Given the description of an element on the screen output the (x, y) to click on. 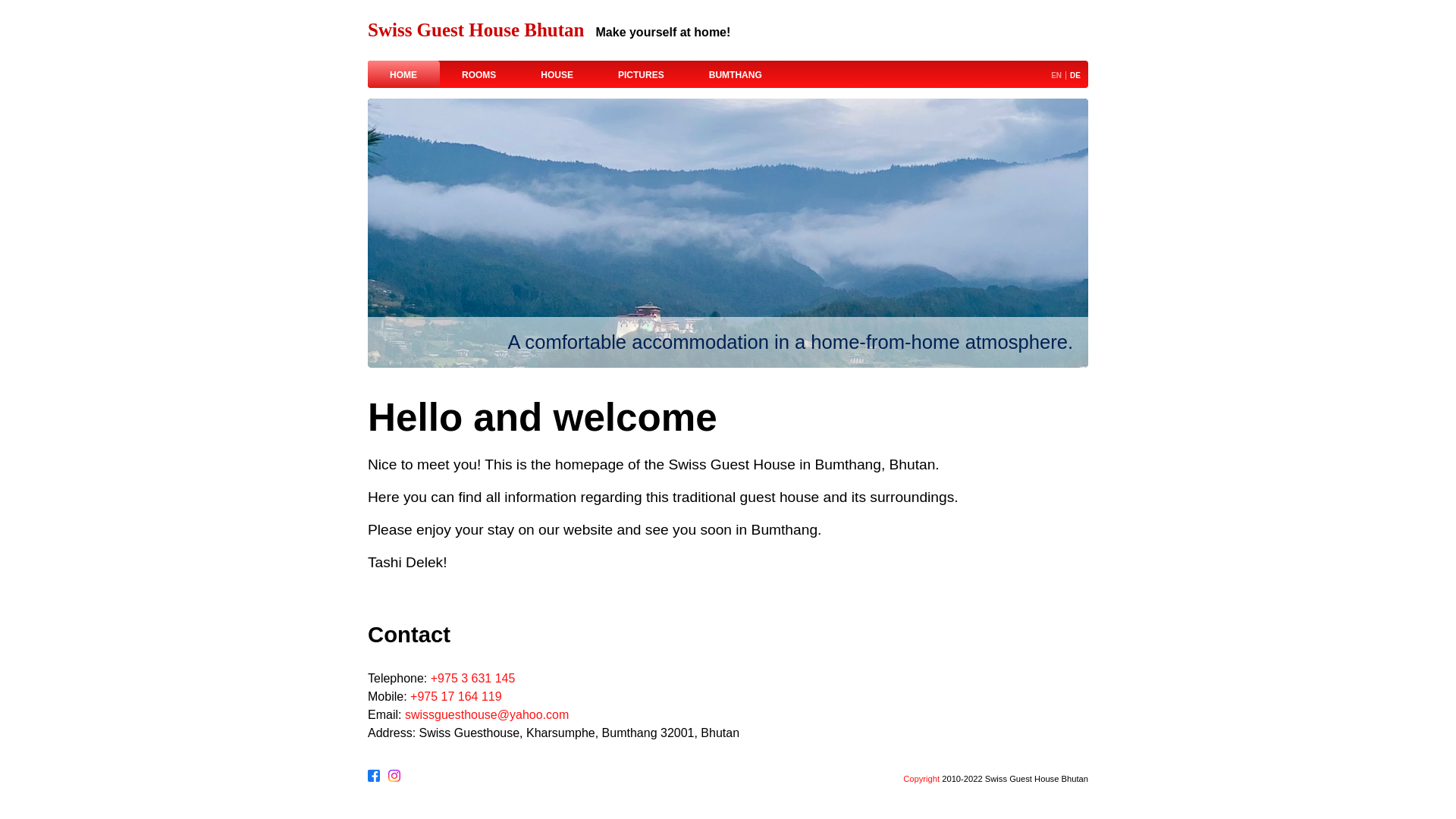
+975 3 631 145 Element type: text (472, 677)
Swiss Guest House Bhutan Element type: text (481, 29)
+975 17 164 119 Element type: text (456, 696)
Copyright Element type: text (921, 778)
BUMTHANG Element type: text (735, 72)
HOUSE Element type: text (556, 72)
swissguesthouse@yahoo.com Element type: text (486, 714)
DE Element type: text (1074, 75)
ROOMS Element type: text (478, 72)
HOME Element type: text (403, 72)
PICTURES Element type: text (641, 72)
